Given the description of an element on the screen output the (x, y) to click on. 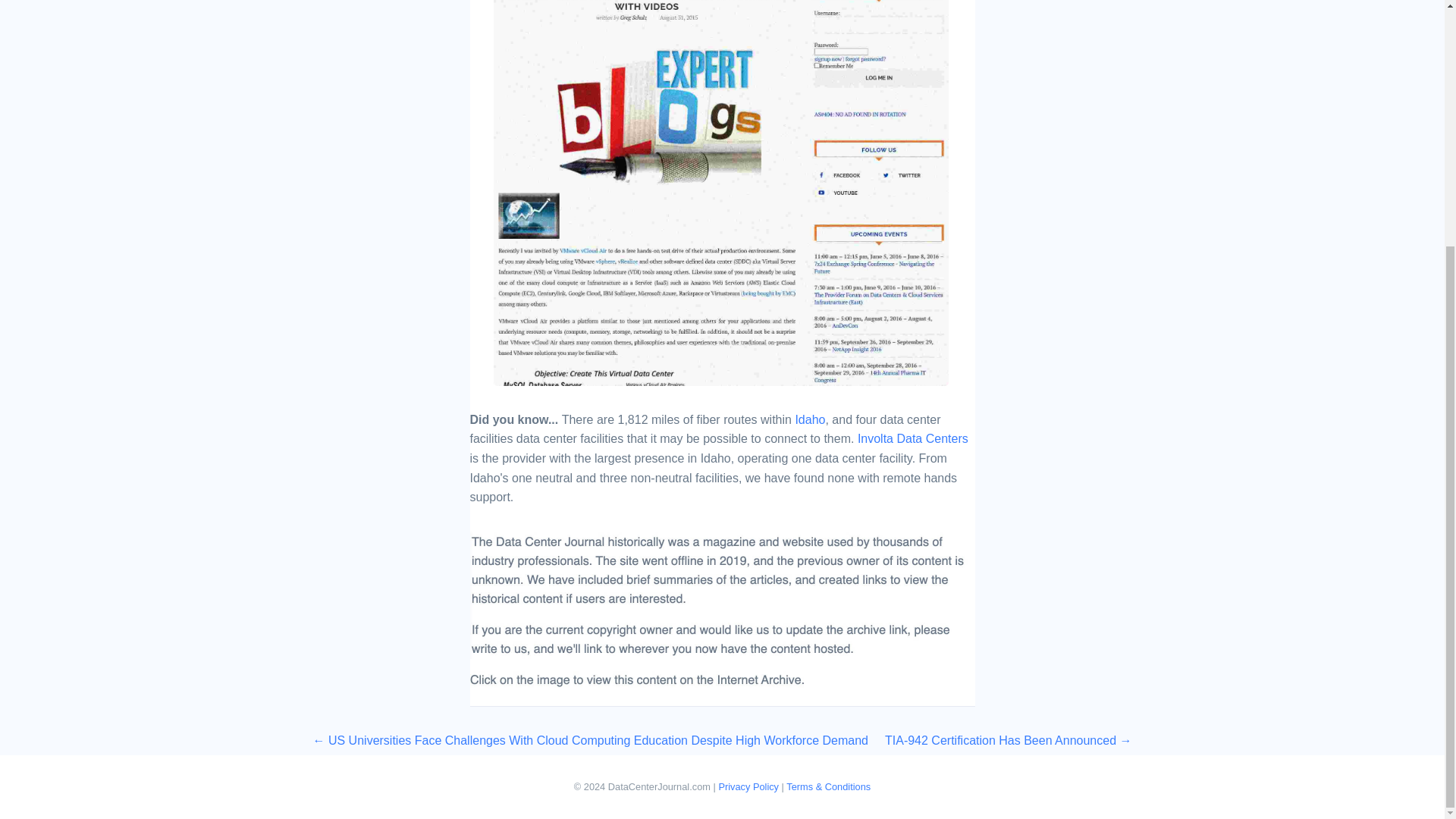
Privacy Policy (747, 786)
Involta Data Centers (912, 438)
Idaho (809, 419)
